Given the description of an element on the screen output the (x, y) to click on. 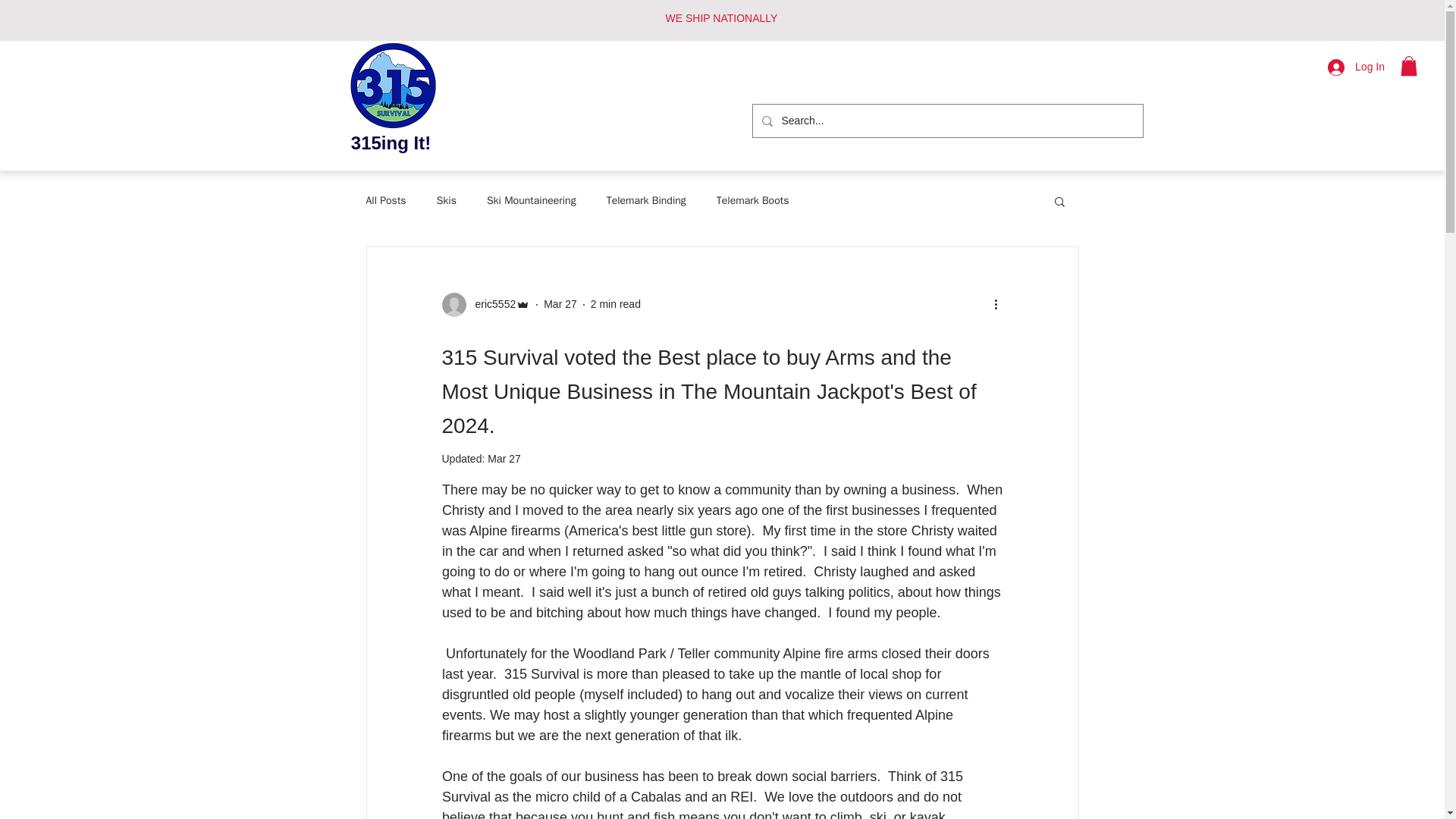
Telemark Binding (646, 201)
eric5552 (490, 304)
Mar 27 (559, 304)
Telemark Boots (752, 201)
eric5552 (485, 304)
2 min read (615, 304)
Ski Mountaineering (531, 201)
WE SHIP NATIONALLY (721, 18)
Log In (1355, 67)
Mar 27 (504, 458)
